Given the description of an element on the screen output the (x, y) to click on. 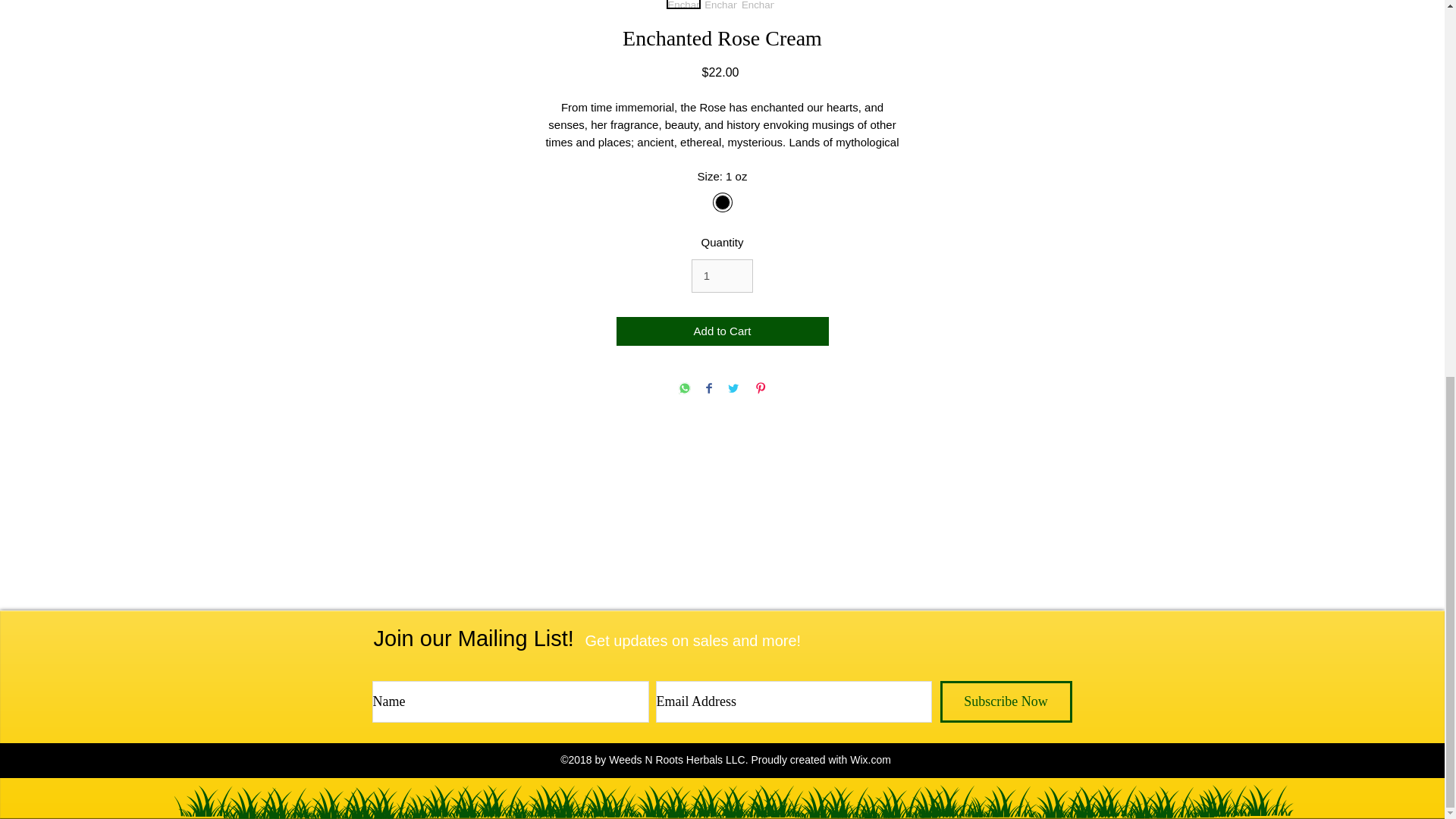
1 (722, 275)
Subscribe Now (1005, 701)
Add to Cart (721, 331)
